Given the description of an element on the screen output the (x, y) to click on. 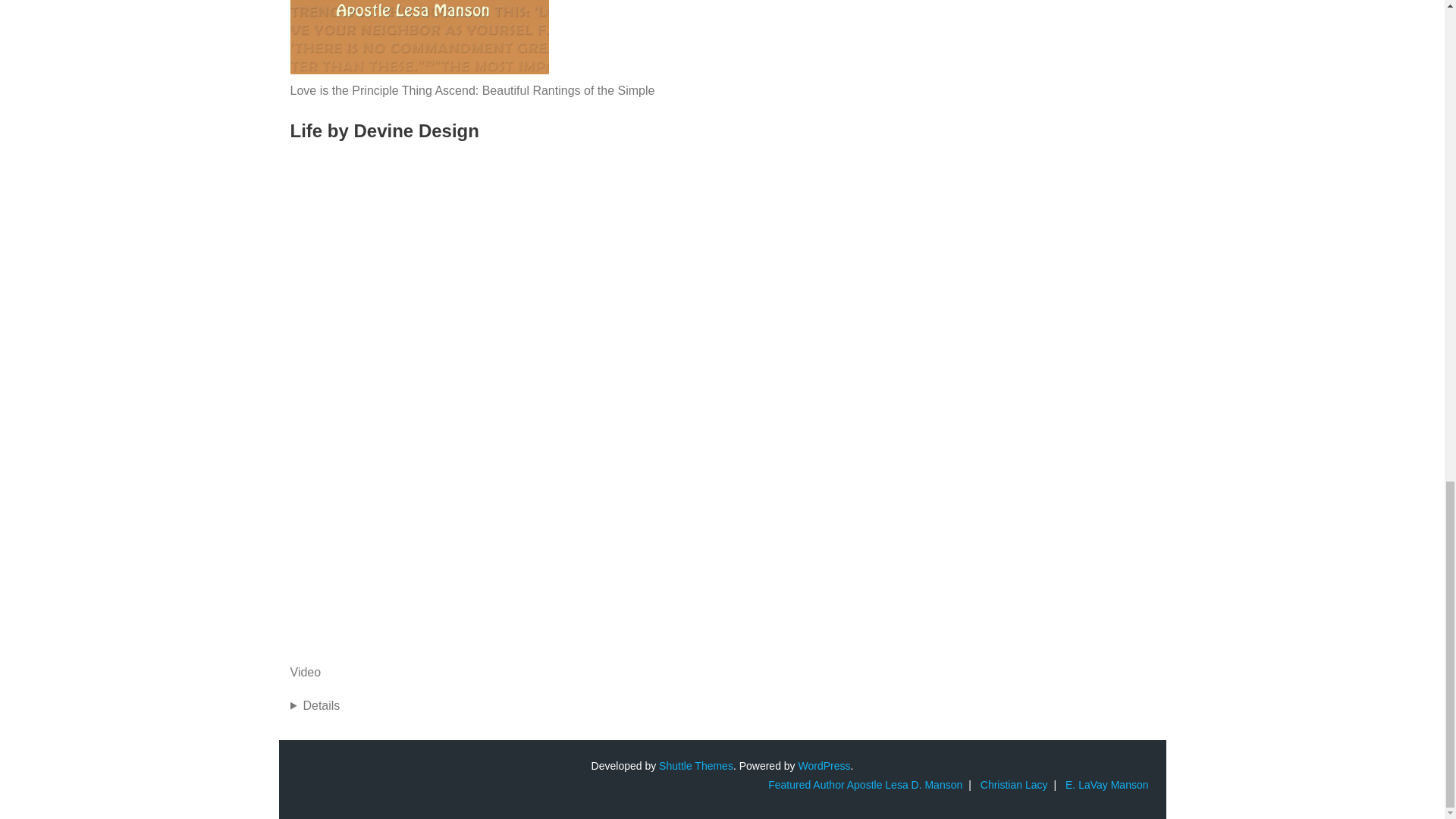
Christian Lacy (1014, 784)
E. LaVay Manson (1106, 784)
Shuttle Themes (696, 766)
Featured Author Apostle Lesa D. Manson (864, 784)
WordPress (823, 766)
